Given the description of an element on the screen output the (x, y) to click on. 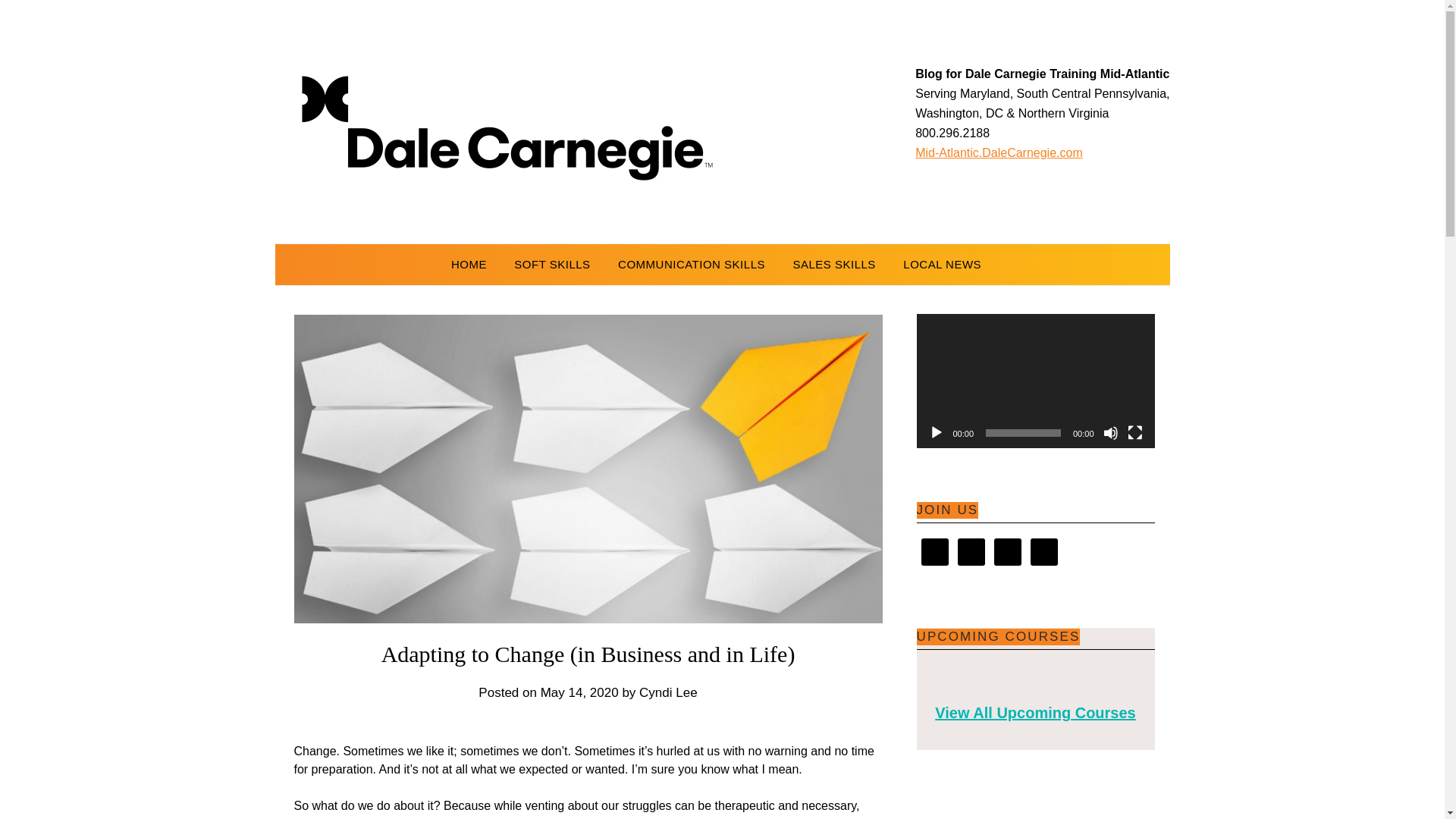
LOCAL NEWS (941, 264)
SOFT SKILLS (552, 264)
Play (935, 432)
Fullscreen (1133, 432)
May 14, 2020 (579, 692)
Mid-Atlantic.DaleCarnegie.com (999, 152)
SALES SKILLS (833, 264)
Mute (1110, 432)
Cyndi Lee (668, 692)
HOME (475, 264)
